Given the description of an element on the screen output the (x, y) to click on. 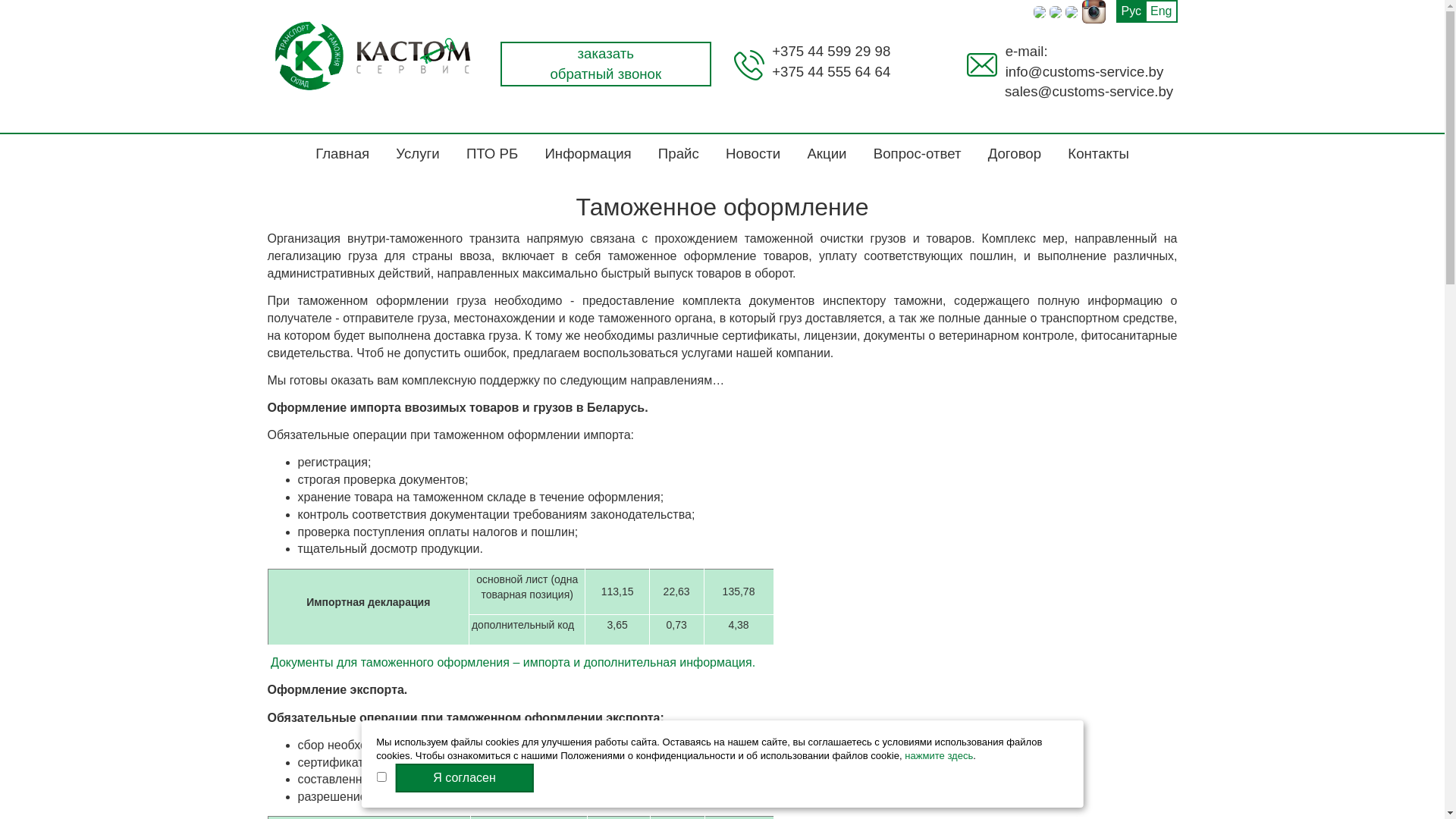
Eng Element type: text (1160, 11)
